Given the description of an element on the screen output the (x, y) to click on. 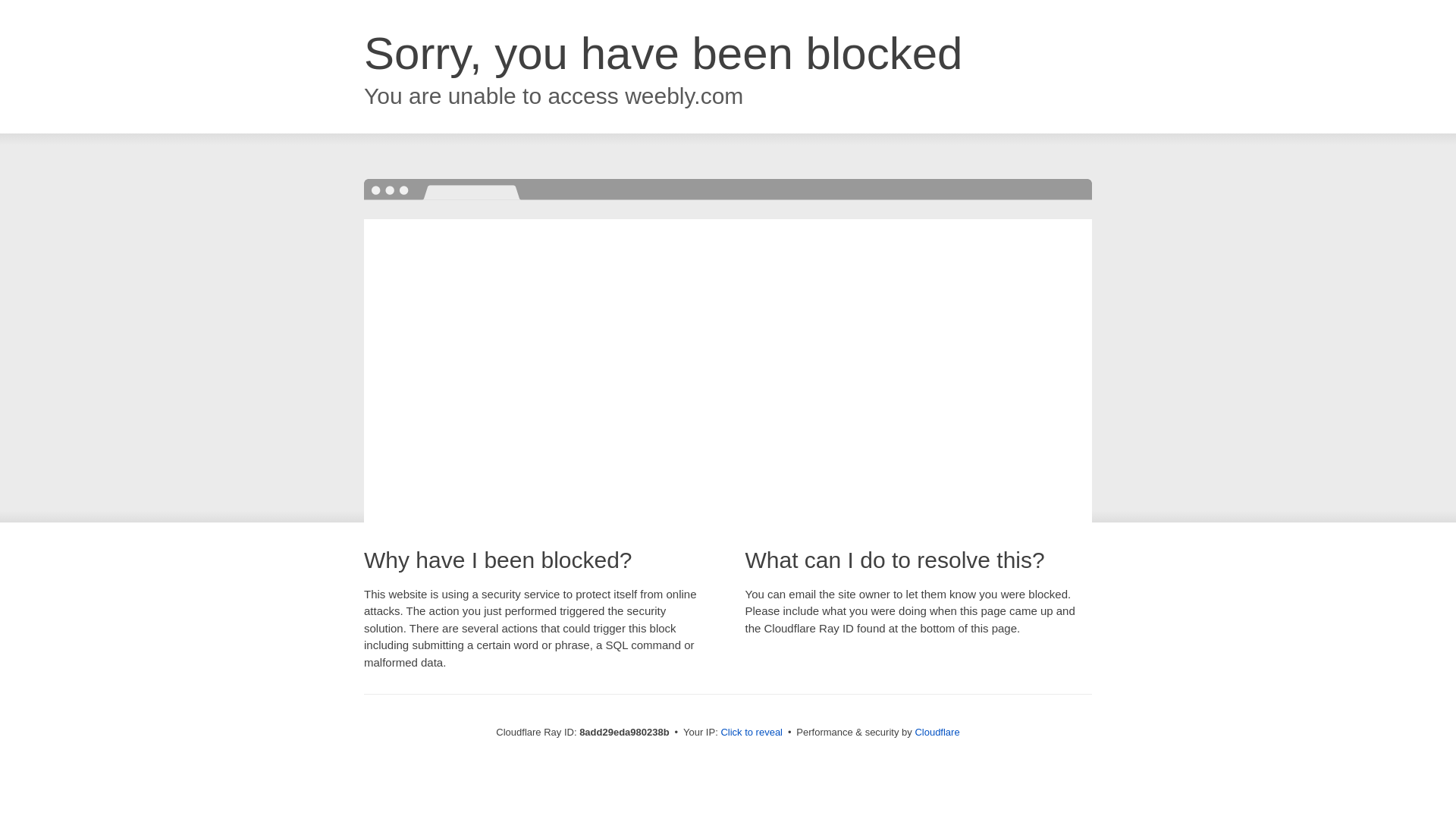
Cloudflare (936, 731)
Click to reveal (751, 732)
